Given the description of an element on the screen output the (x, y) to click on. 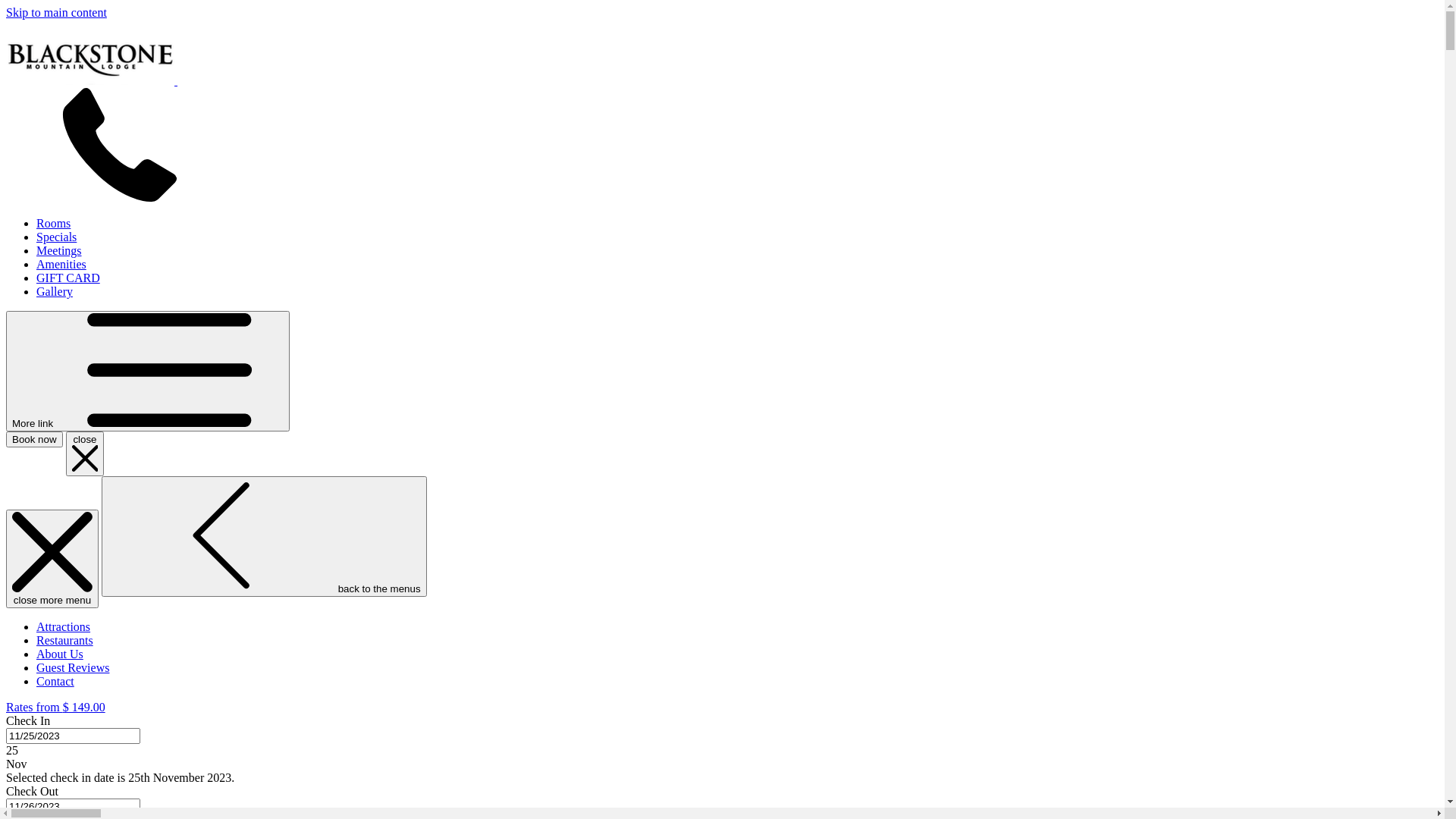
Rates from $ 149.00 Element type: text (55, 706)
Restaurants Element type: text (64, 639)
Meetings Element type: text (58, 250)
Guest Reviews Element type: text (72, 667)
Rooms Element type: text (53, 222)
Amenities Element type: text (61, 263)
Book now Element type: text (34, 439)
Back to the homepage Element type: hover (194, 80)
Gallery Element type: text (54, 291)
GIFT CARD Element type: text (68, 277)
Specials Element type: text (56, 236)
More link Menu Element type: text (147, 370)
close more menu Element type: text (52, 558)
Skip to main content Element type: text (56, 12)
About Us Element type: text (59, 653)
Attractions Element type: text (63, 626)
Contact Element type: text (55, 680)
back to the menus Element type: text (263, 536)
close Element type: text (84, 453)
